Given the description of an element on the screen output the (x, y) to click on. 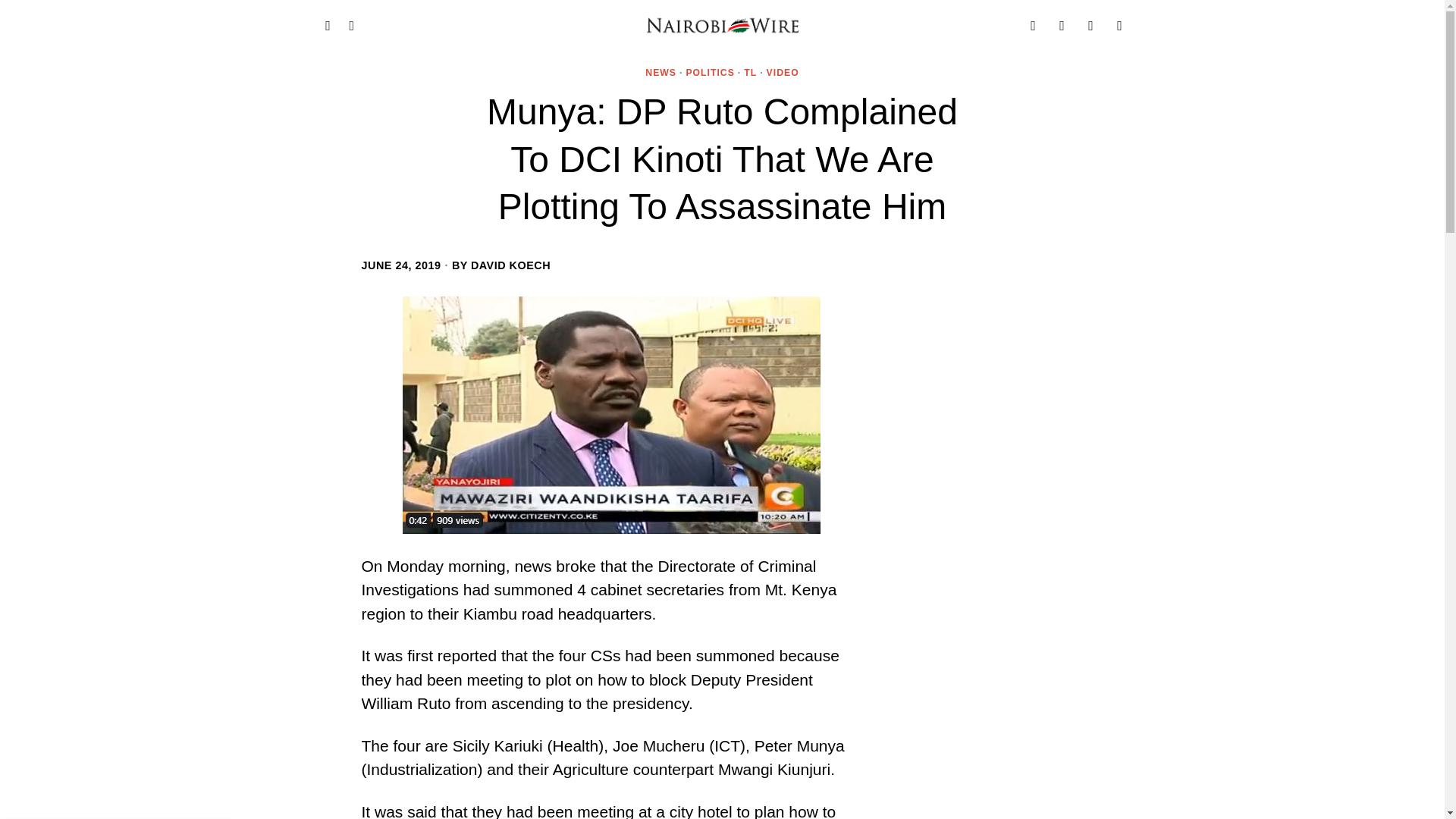
DAVID KOECH (510, 264)
VIDEO (783, 73)
POLITICS (709, 73)
NEWS (661, 73)
24 Jun, 2019 10:51:47 (401, 264)
TL (750, 73)
